Given the description of an element on the screen output the (x, y) to click on. 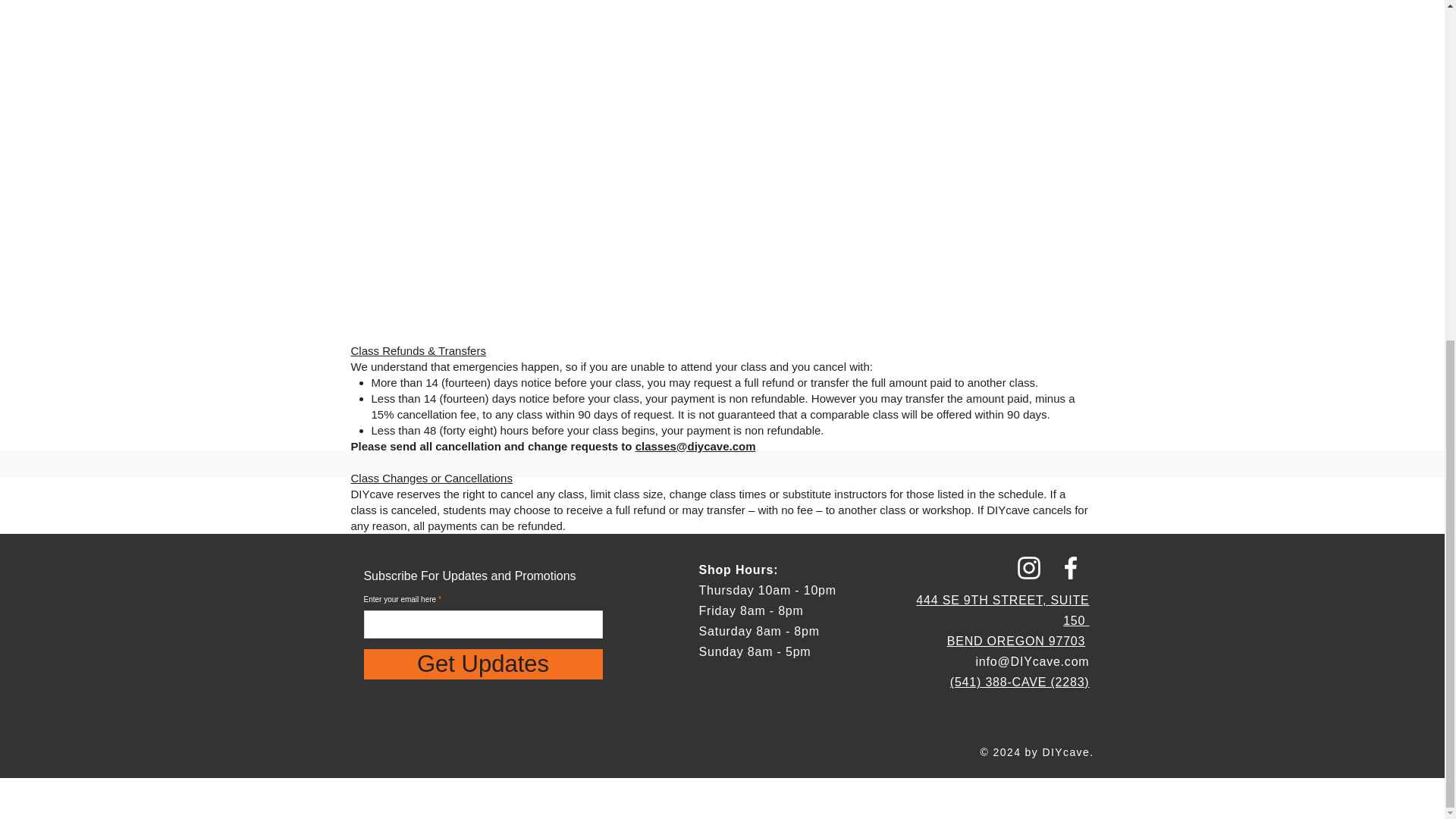
444 SE 9TH STREET, SUITE 150  (1002, 610)
BEND OREGON 97703 (1016, 640)
Get Updates (483, 664)
